Given the description of an element on the screen output the (x, y) to click on. 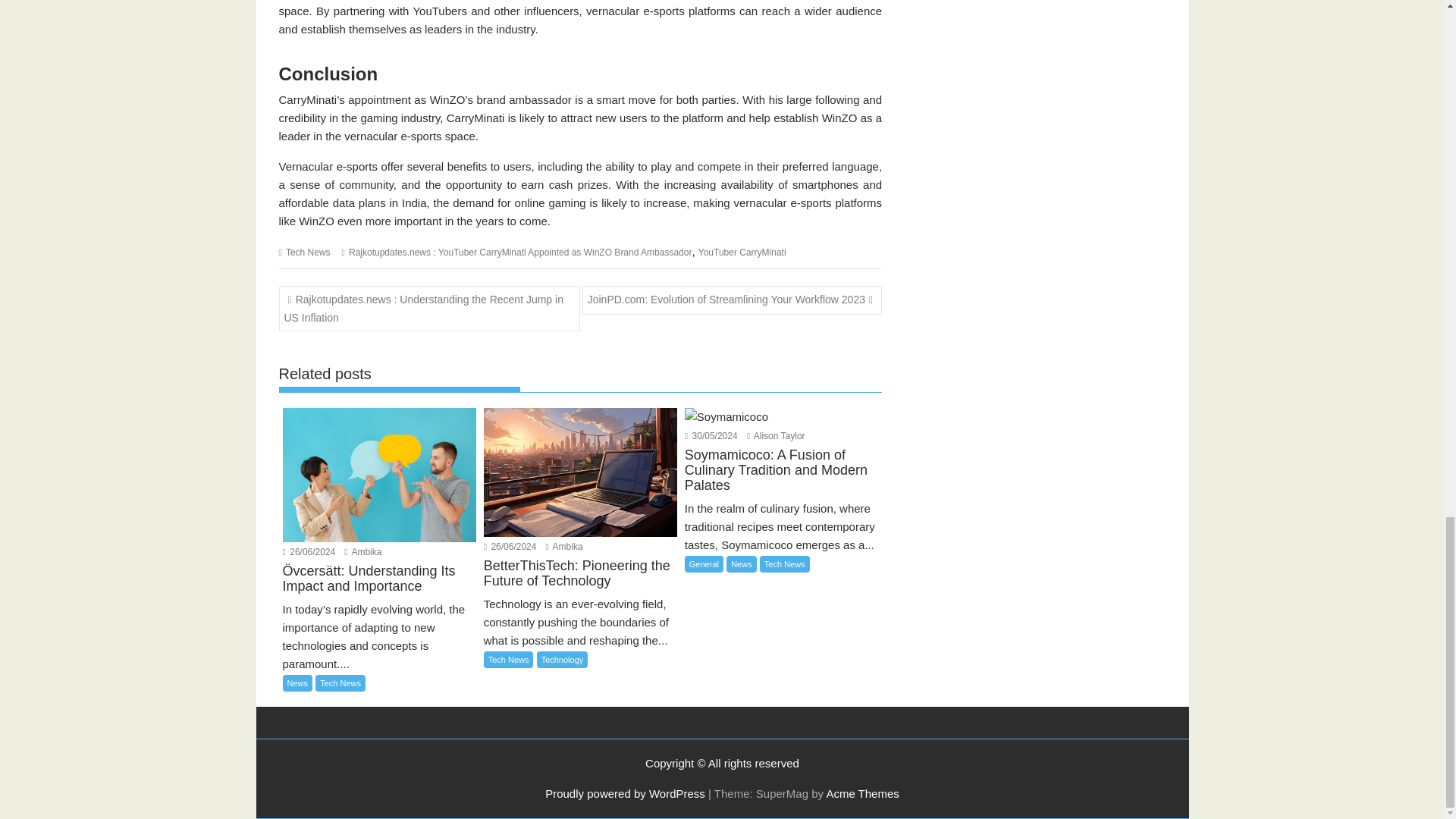
Ambika (564, 546)
Ambika (362, 552)
Alison Taylor (775, 435)
